Given the description of an element on the screen output the (x, y) to click on. 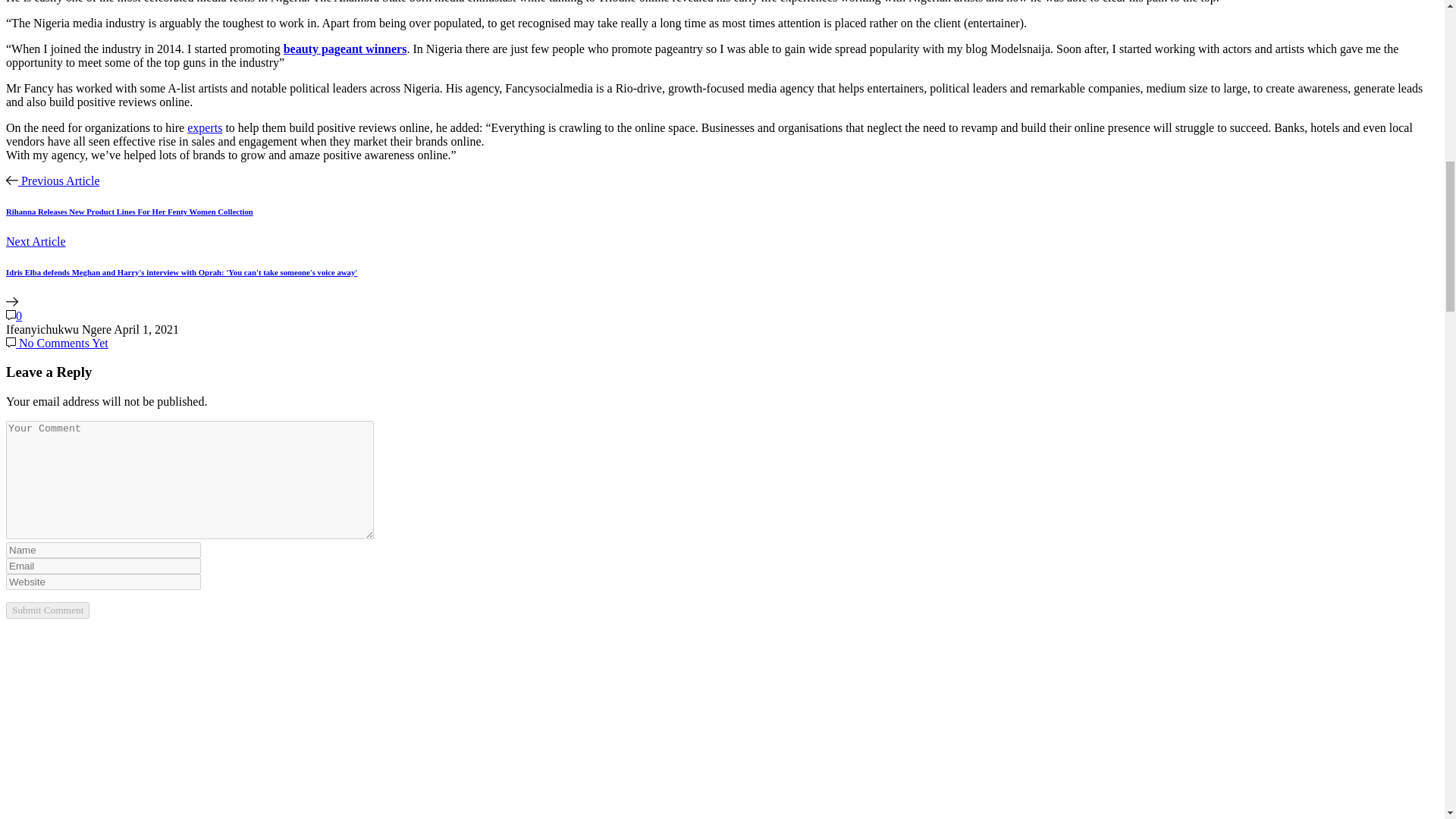
Submit Comment (46, 610)
experts (204, 127)
0 (13, 315)
No Comments Yet (56, 342)
Submit Comment (46, 610)
beauty pageant winners (345, 48)
